Given the description of an element on the screen output the (x, y) to click on. 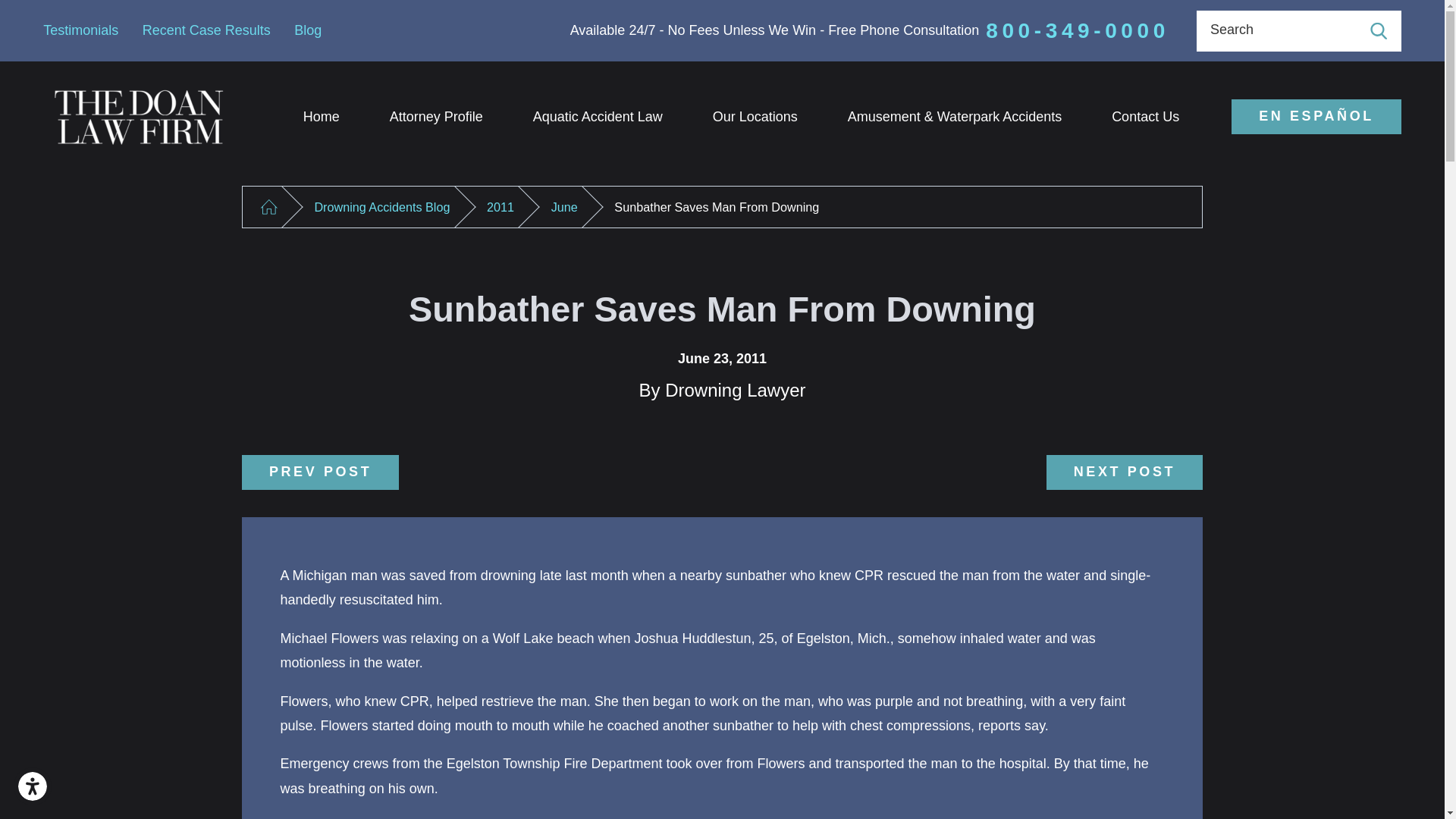
800-349-0000 (1077, 31)
Recent Case Results (206, 29)
Attorney Profile (436, 116)
Go Home (269, 207)
The Doan Law Firm, PLLC (140, 117)
Search Our Site (1378, 30)
Testimonials (80, 29)
Aquatic Accident Law (597, 116)
Open the accessibility options menu (31, 786)
Blog (307, 29)
Search Icon (1378, 30)
